Given the description of an element on the screen output the (x, y) to click on. 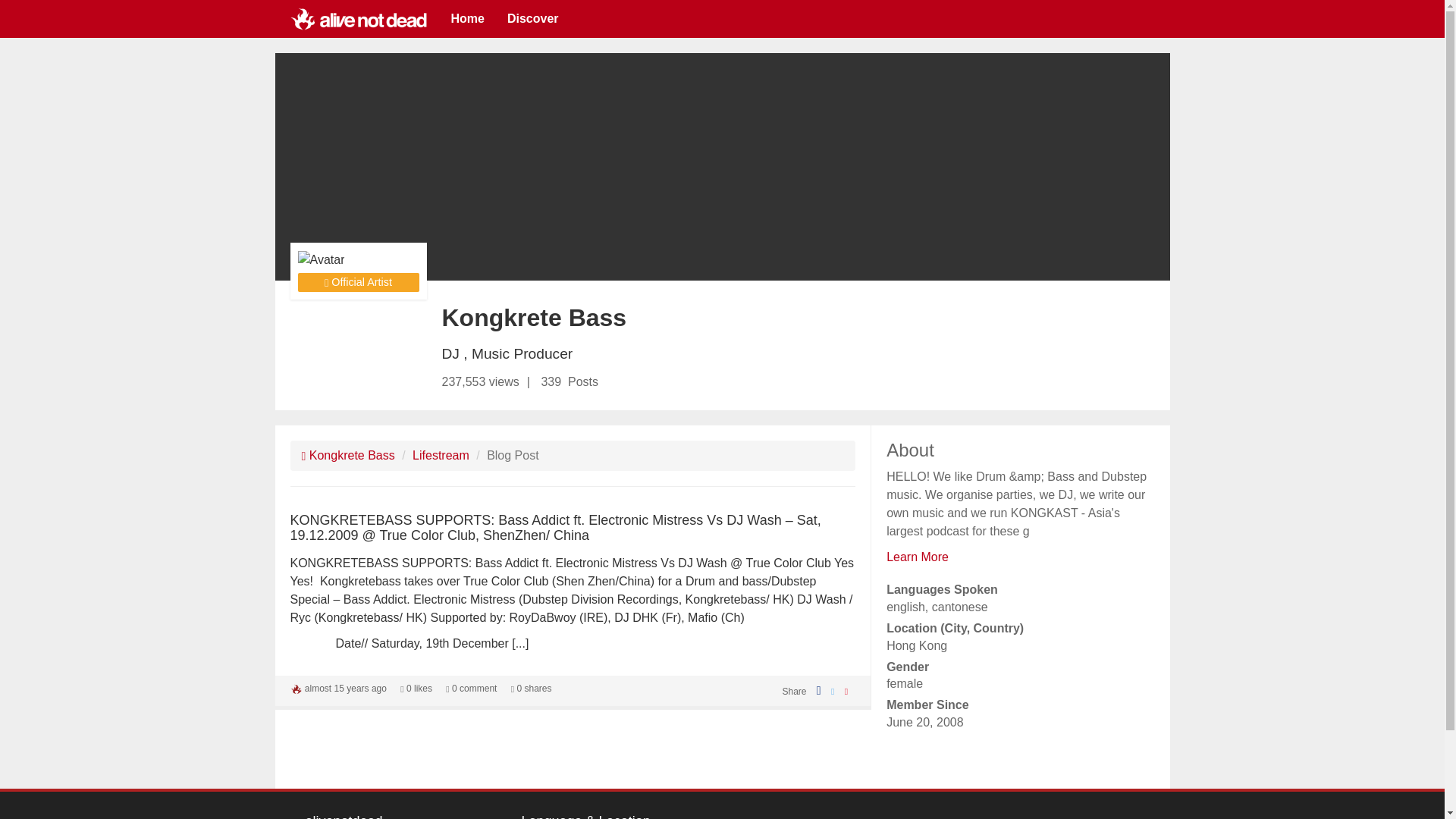
Home (467, 18)
Kongkrete Bass (347, 454)
Discover (533, 18)
Learn More (917, 556)
 0 comment (470, 688)
almost 15 years ago (345, 688)
Lifestream (440, 454)
